Given the description of an element on the screen output the (x, y) to click on. 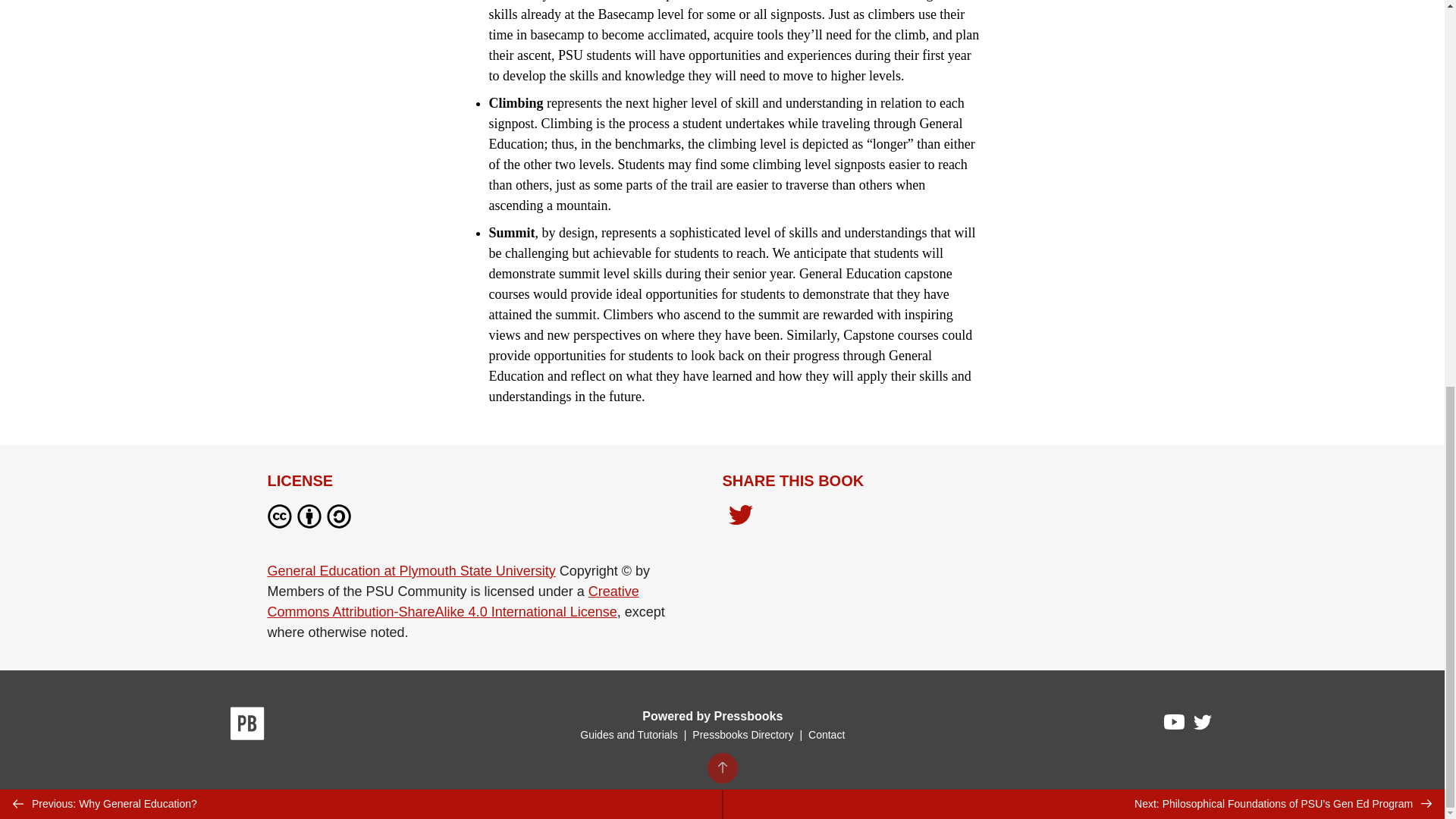
Contact (826, 734)
Guides and Tutorials (627, 734)
Pressbooks Directory (742, 734)
BACK TO TOP (721, 37)
Share on Twitter (740, 516)
Share on Twitter (740, 518)
Previous: Why General Education? (361, 72)
Previous: Why General Education? (361, 72)
Powered by Pressbooks (712, 716)
Pressbooks on YouTube (1174, 725)
General Education at Plymouth State University (410, 570)
